Given the description of an element on the screen output the (x, y) to click on. 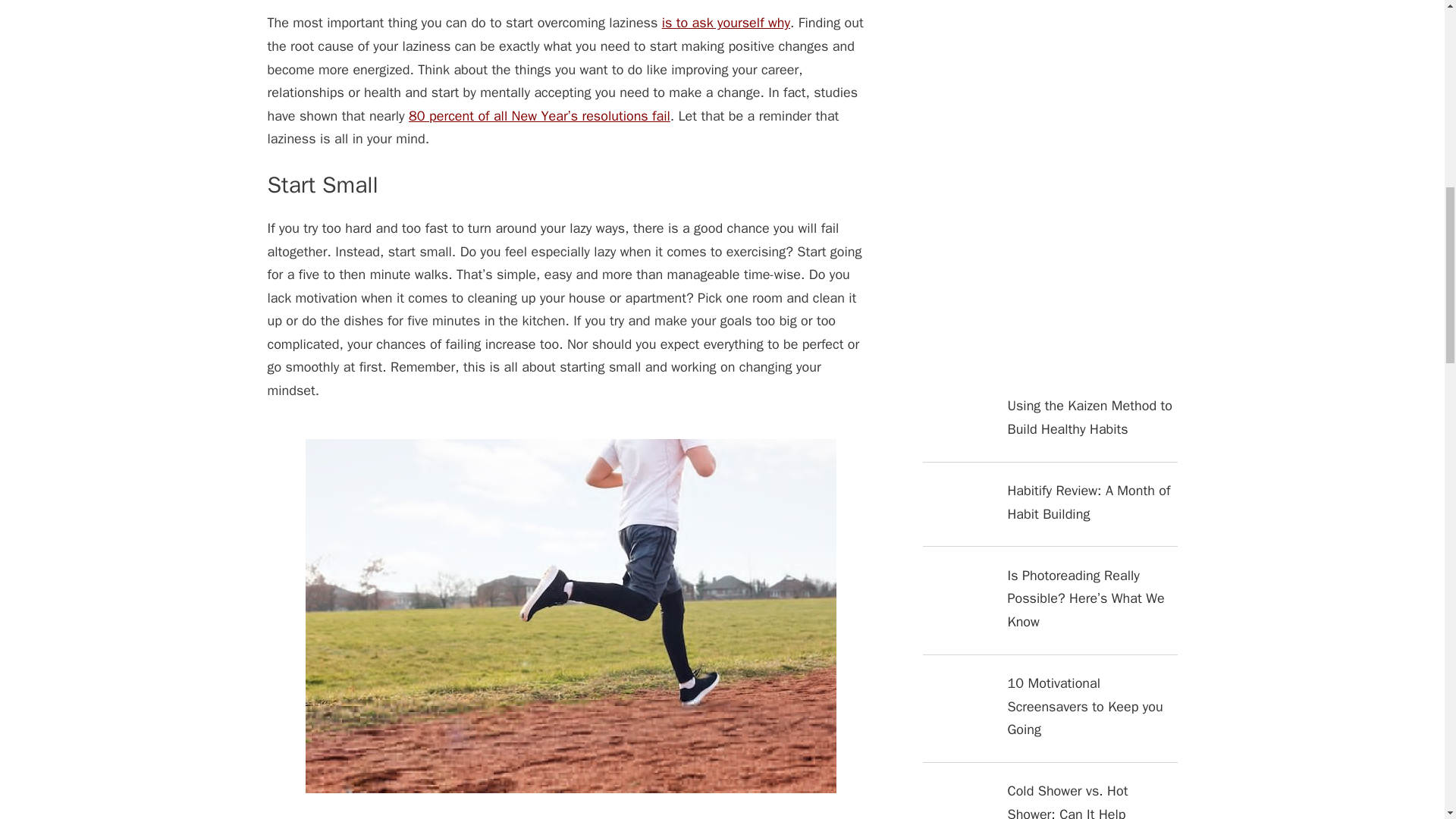
10 Motivational Screensavers to Keep you Going (1048, 716)
Habitify Review: A Month of Habit Building (1048, 512)
is to ask yourself why (726, 22)
Cold Shower vs. Hot Shower: Can It Help Productivity? (1048, 799)
Using the Kaizen Method to Build Healthy Habits (1048, 427)
